Given the description of an element on the screen output the (x, y) to click on. 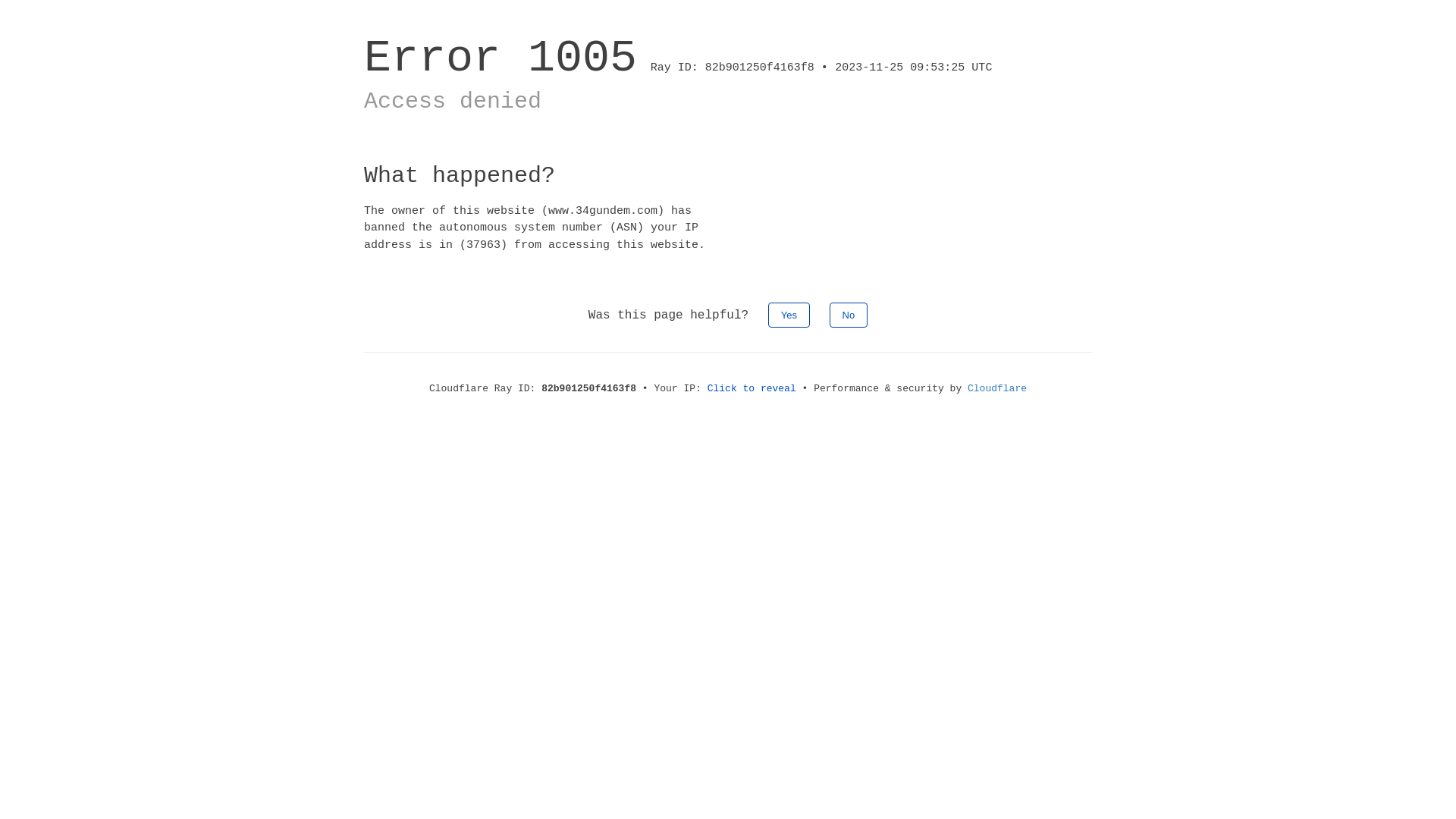
Yes Element type: text (788, 314)
Click to reveal Element type: text (751, 388)
Cloudflare Element type: text (996, 388)
No Element type: text (848, 314)
